Given the description of an element on the screen output the (x, y) to click on. 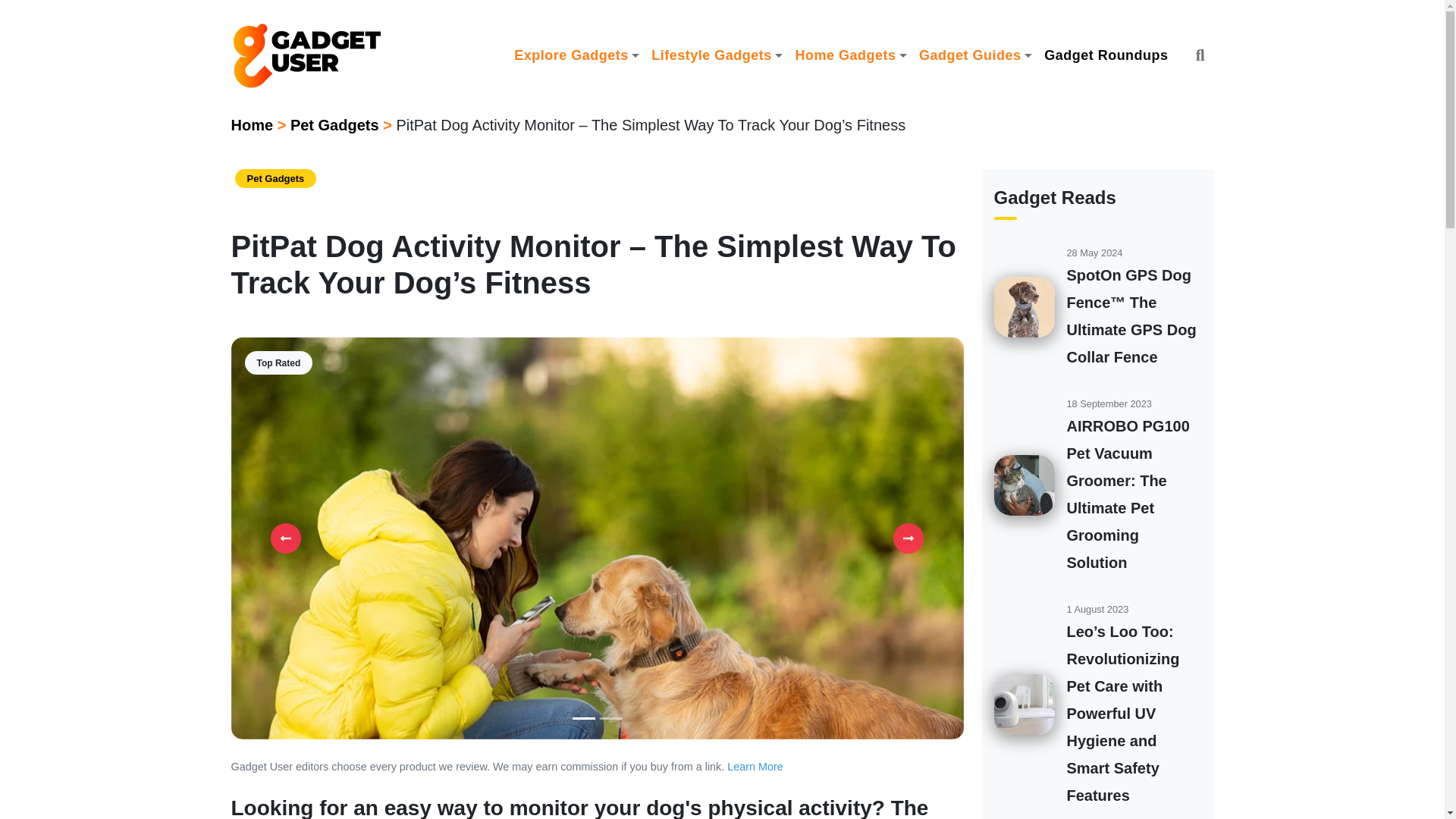
Gadget Guides (975, 55)
Home Gadgets (850, 55)
Explore Gadgets (576, 55)
Lifestyle Gadgets (717, 55)
